Given the description of an element on the screen output the (x, y) to click on. 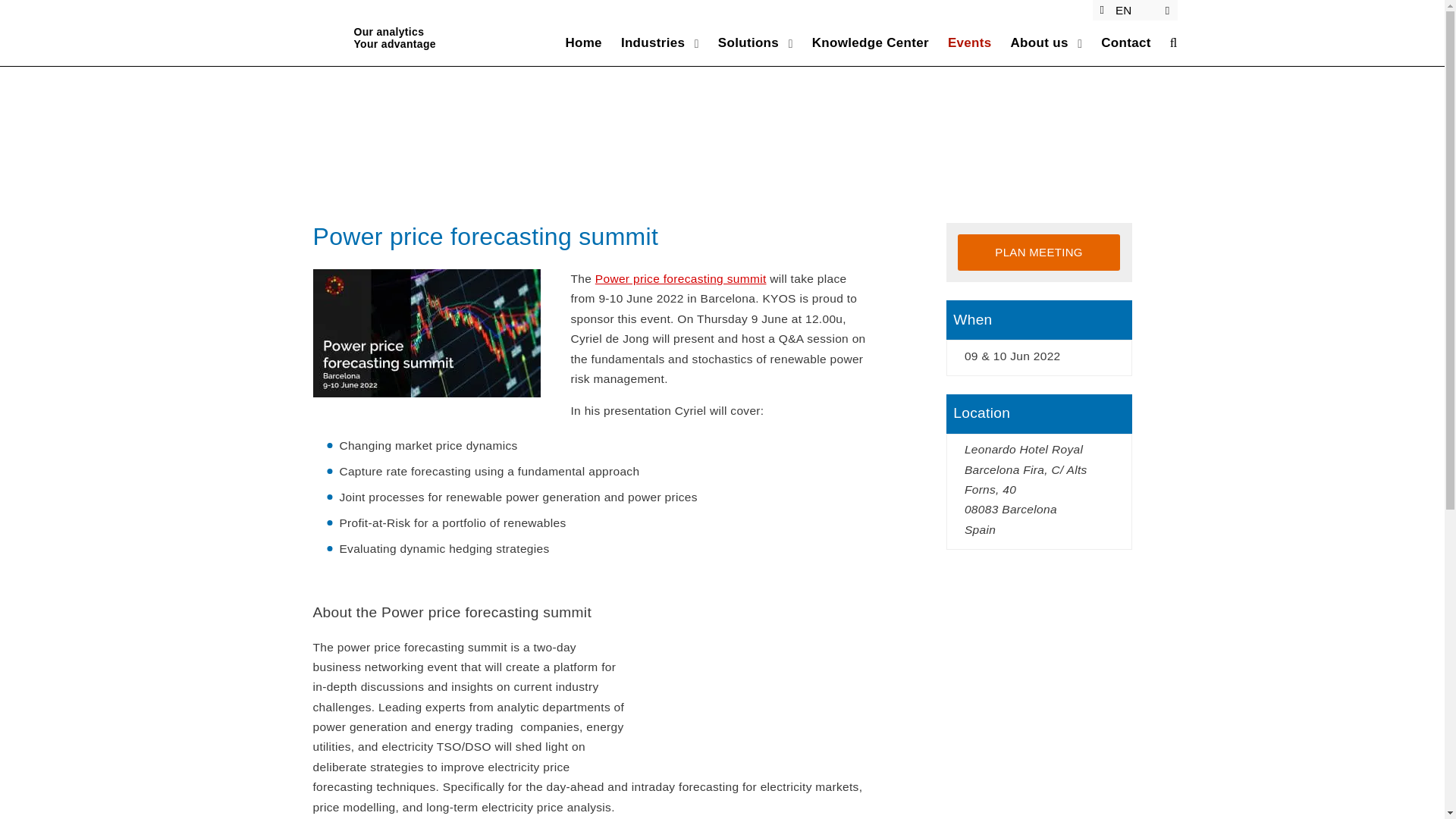
Industries (643, 43)
Power price forecasting summit (681, 278)
PLAN MEETING (388, 42)
Knowledge Center (1038, 252)
EN (860, 43)
About us (1134, 10)
Contact (1029, 43)
Solutions (1115, 43)
Home (738, 43)
Events (573, 43)
